Given the description of an element on the screen output the (x, y) to click on. 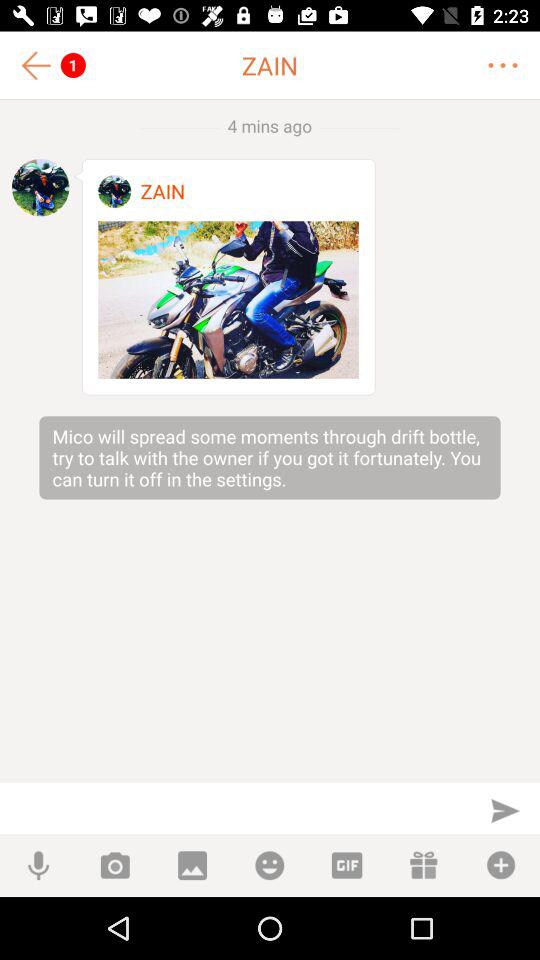
place cursor (235, 808)
